Given the description of an element on the screen output the (x, y) to click on. 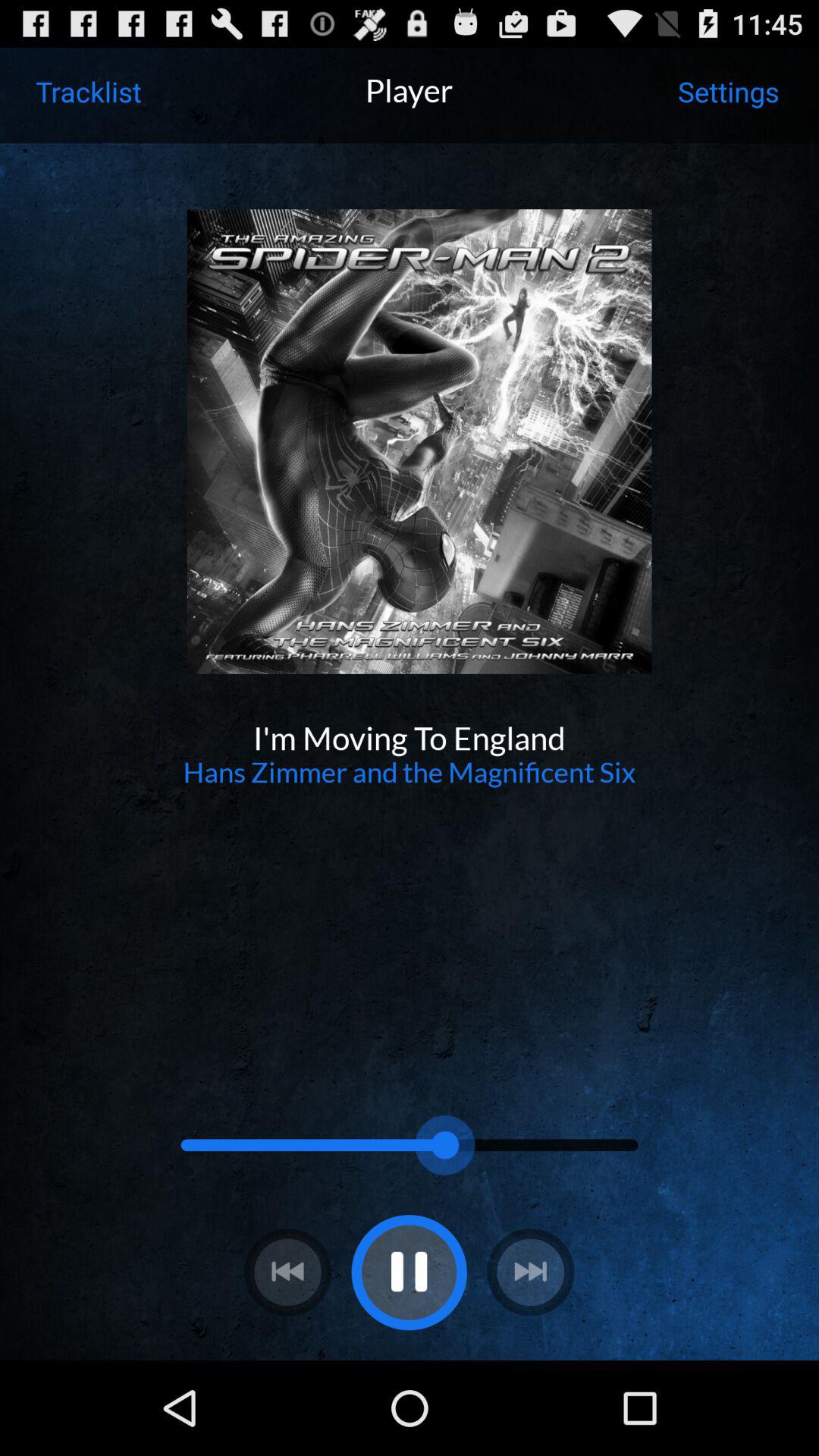
pause (408, 1272)
